Given the description of an element on the screen output the (x, y) to click on. 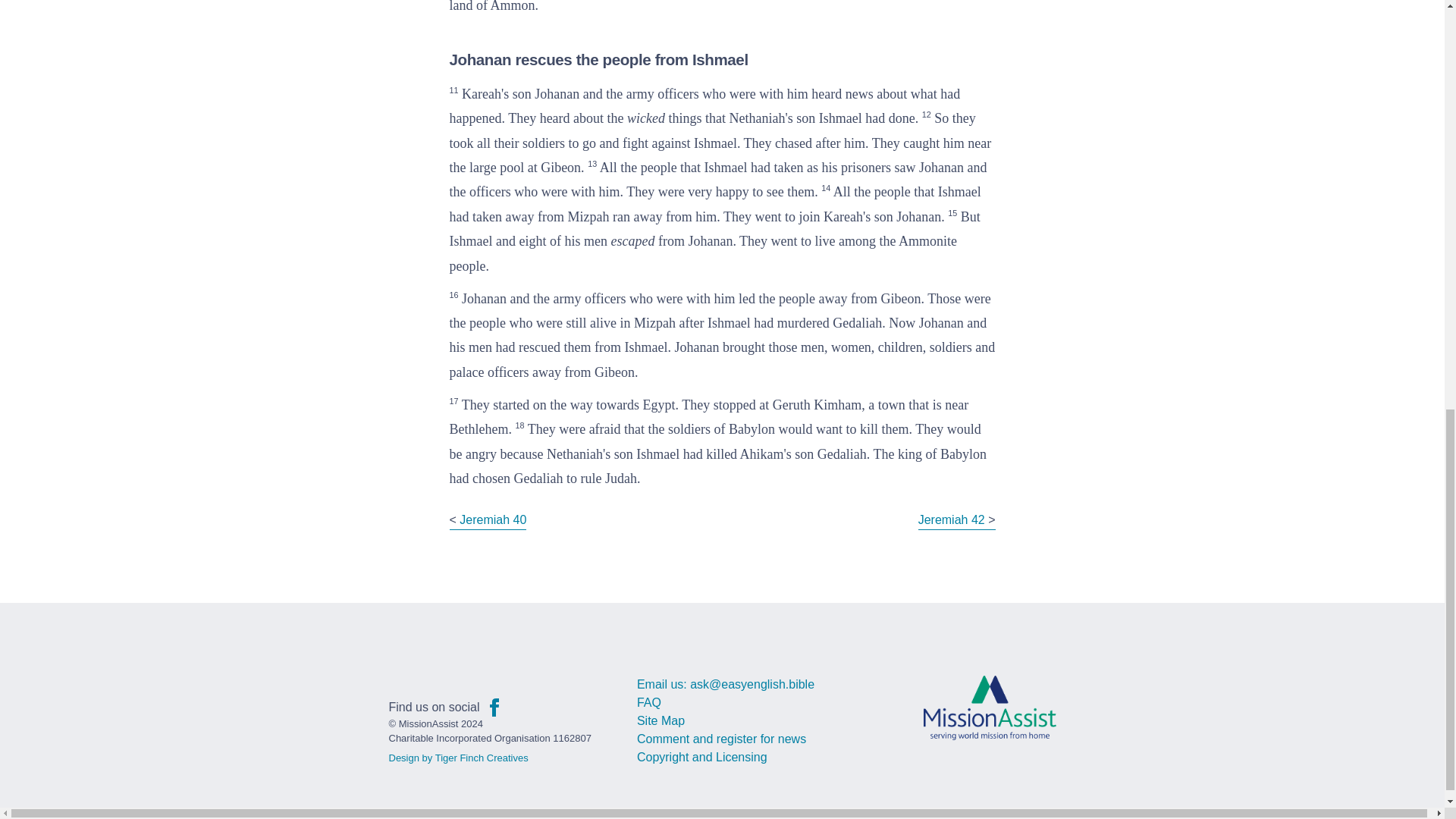
Jeremiah 40 (492, 519)
Design by Tiger Finch Creatives (457, 757)
Jeremiah 42 (951, 519)
FAQ (649, 702)
